Given the description of an element on the screen output the (x, y) to click on. 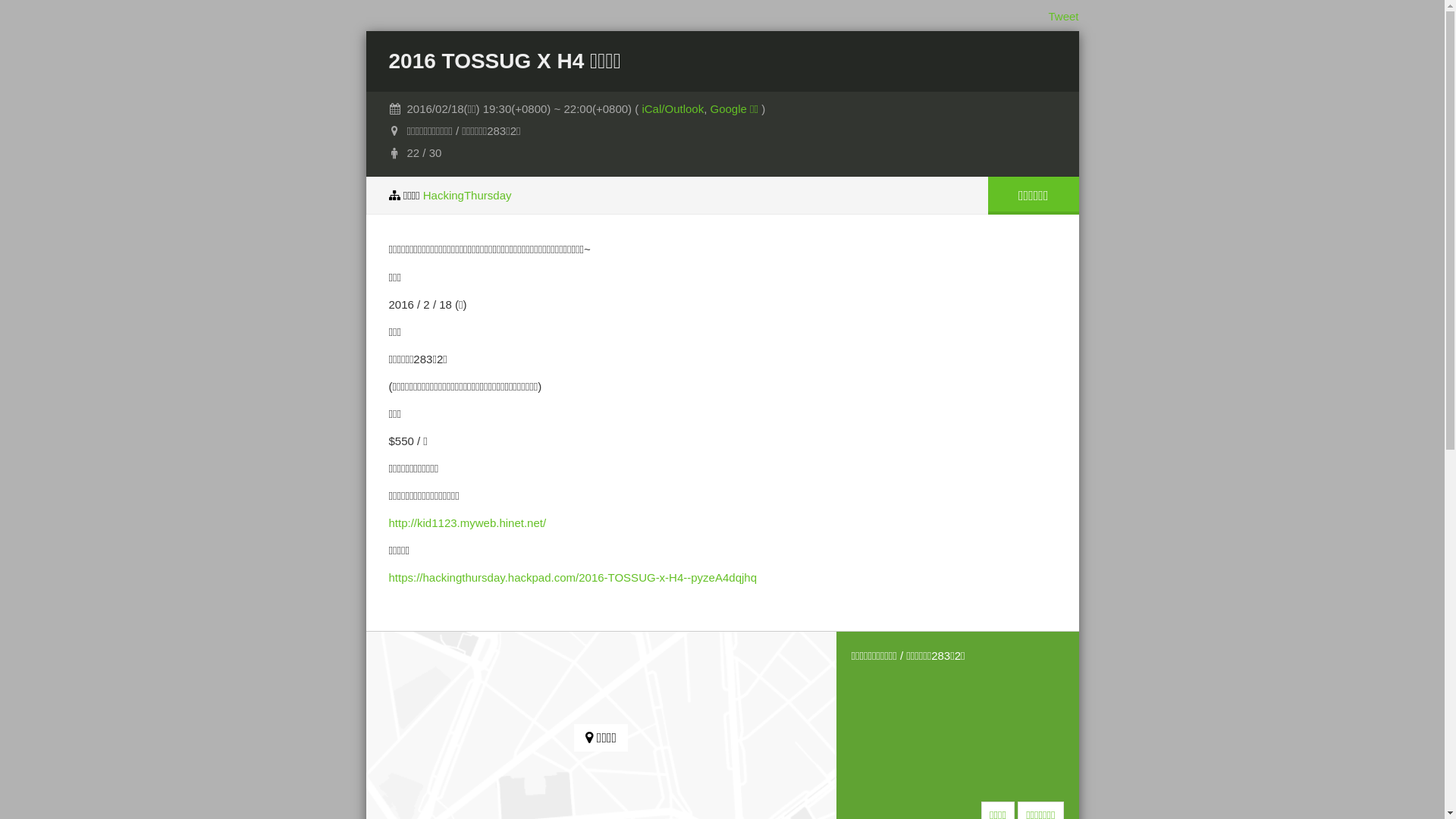
iCal/Outlook Element type: text (672, 108)
HackingThursday Element type: text (467, 194)
Tweet Element type: text (1063, 15)
http://kid1123.myweb.hinet.net/ Element type: text (467, 522)
